Given the description of an element on the screen output the (x, y) to click on. 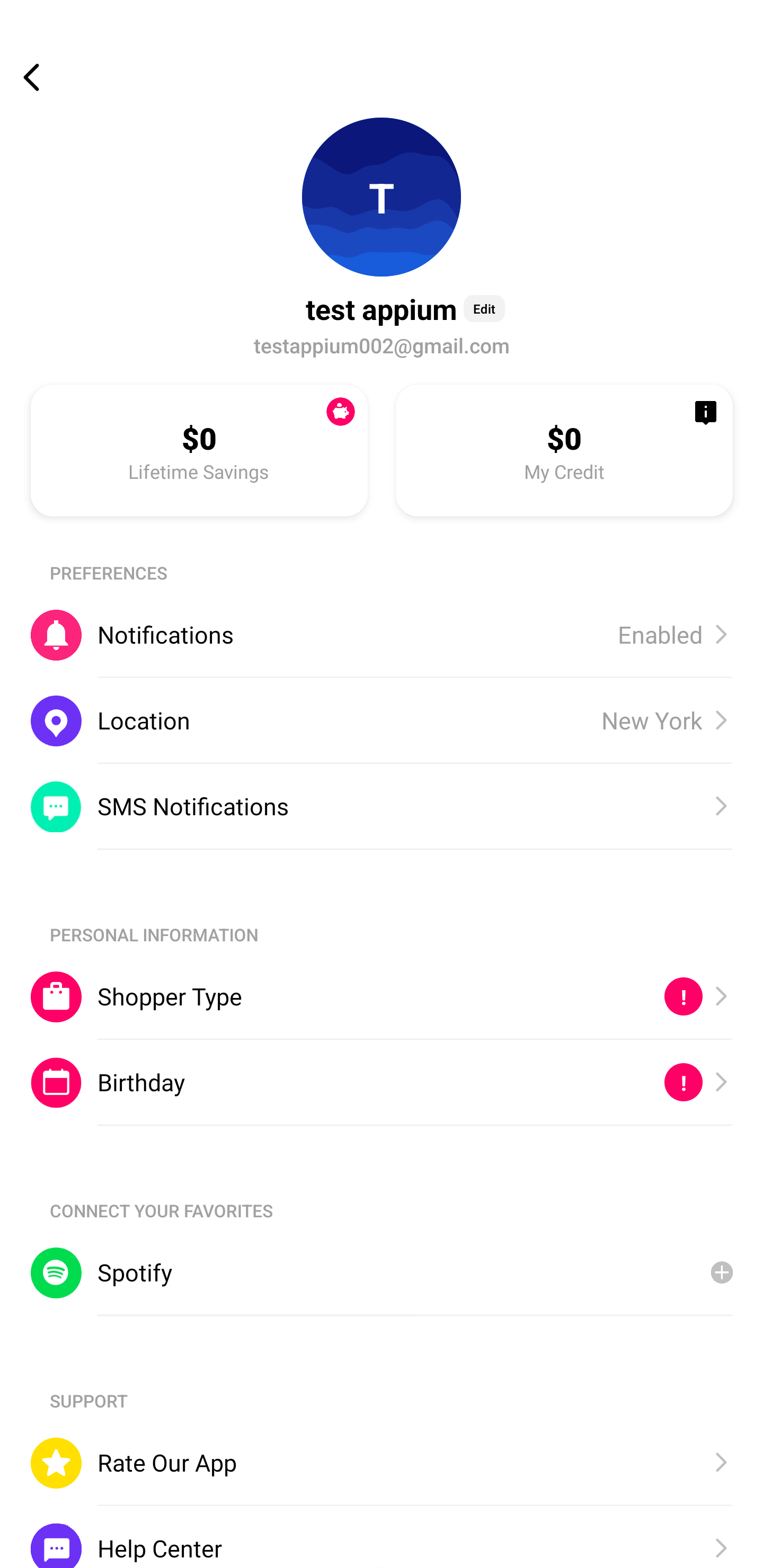
T (381, 196)
Edit (484, 307)
$0, Lifetime Savings $0 Lifetime Savings (198, 449)
$0, My Credit $0 My Credit (563, 449)
Location, New York Location New York (381, 720)
SMS Notifications,    SMS Notifications    (381, 806)
Shopper Type,   , ! Shopper Type    ! (381, 996)
Birthday,   , ! Birthday    ! (381, 1082)
Spotify,    Spotify    (381, 1272)
Rate Our App,    Rate Our App    (381, 1462)
Help Center,    Help Center    (381, 1536)
